Given the description of an element on the screen output the (x, y) to click on. 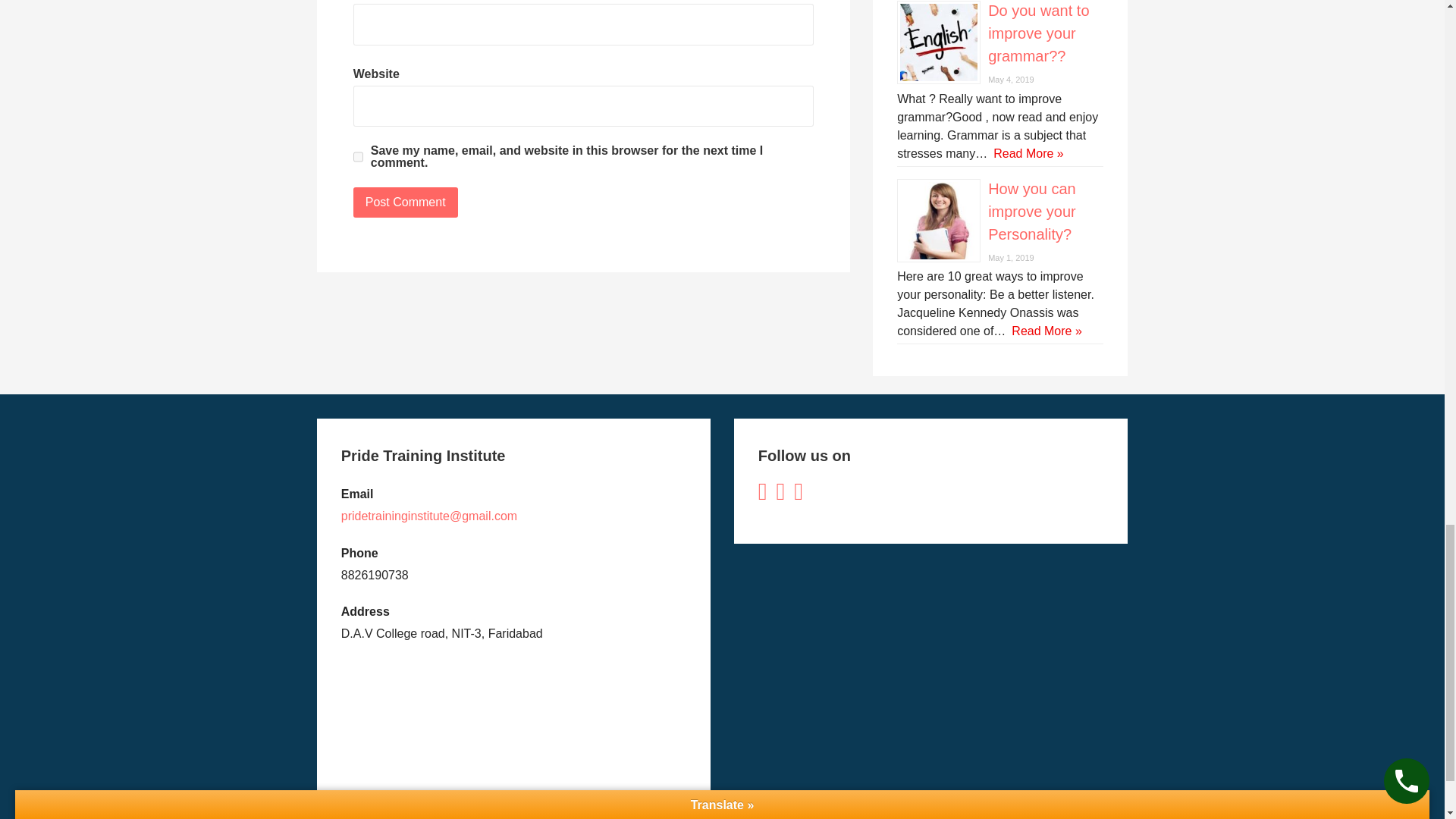
Do you want to improve your grammar?? (1038, 33)
Permalink to How you can improve your Personality? (1031, 211)
Post Comment (405, 202)
Permalink to Do you want to improve your grammar?? (1038, 33)
Post Comment (405, 202)
